Given the description of an element on the screen output the (x, y) to click on. 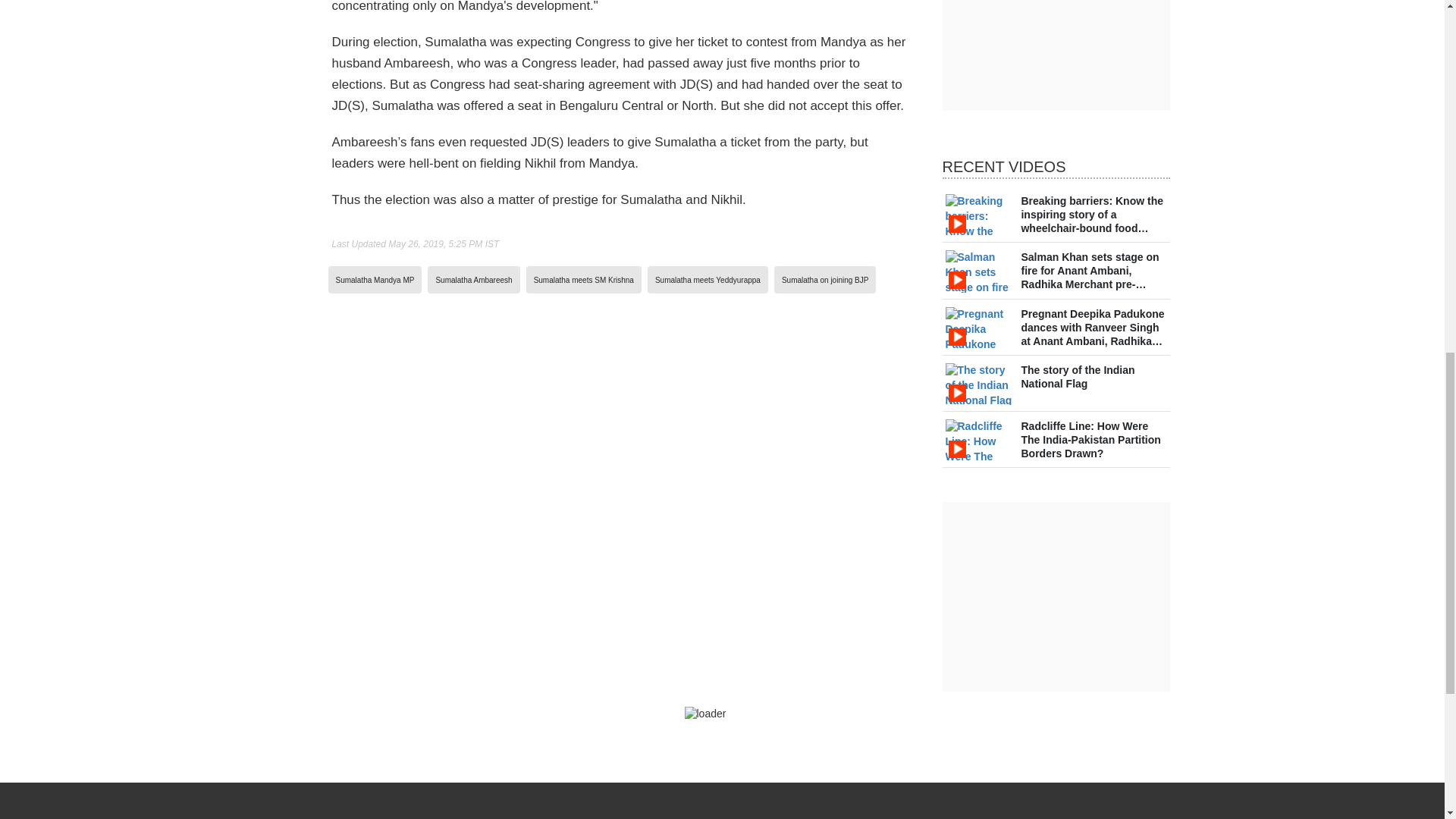
Sumalatha Ambareesh (473, 280)
Sumalatha Mandya MP (373, 280)
Sumalatha meets Yeddyurappa (707, 280)
Sumalatha meets SM Krishna (583, 280)
Sumalatha on joining BJP (825, 280)
